Given the description of an element on the screen output the (x, y) to click on. 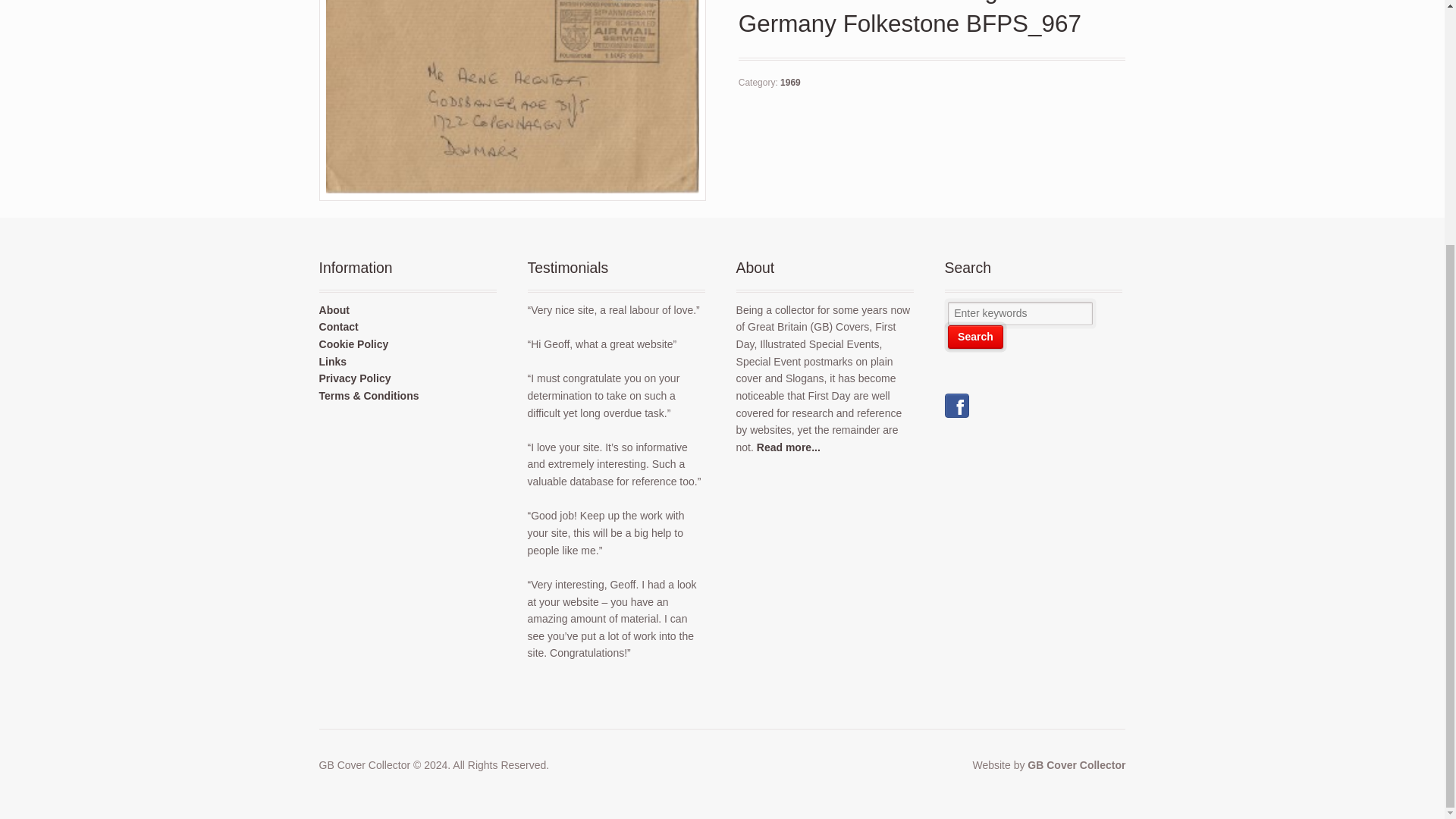
Search (975, 336)
find us on Facebook (956, 409)
